Given the description of an element on the screen output the (x, y) to click on. 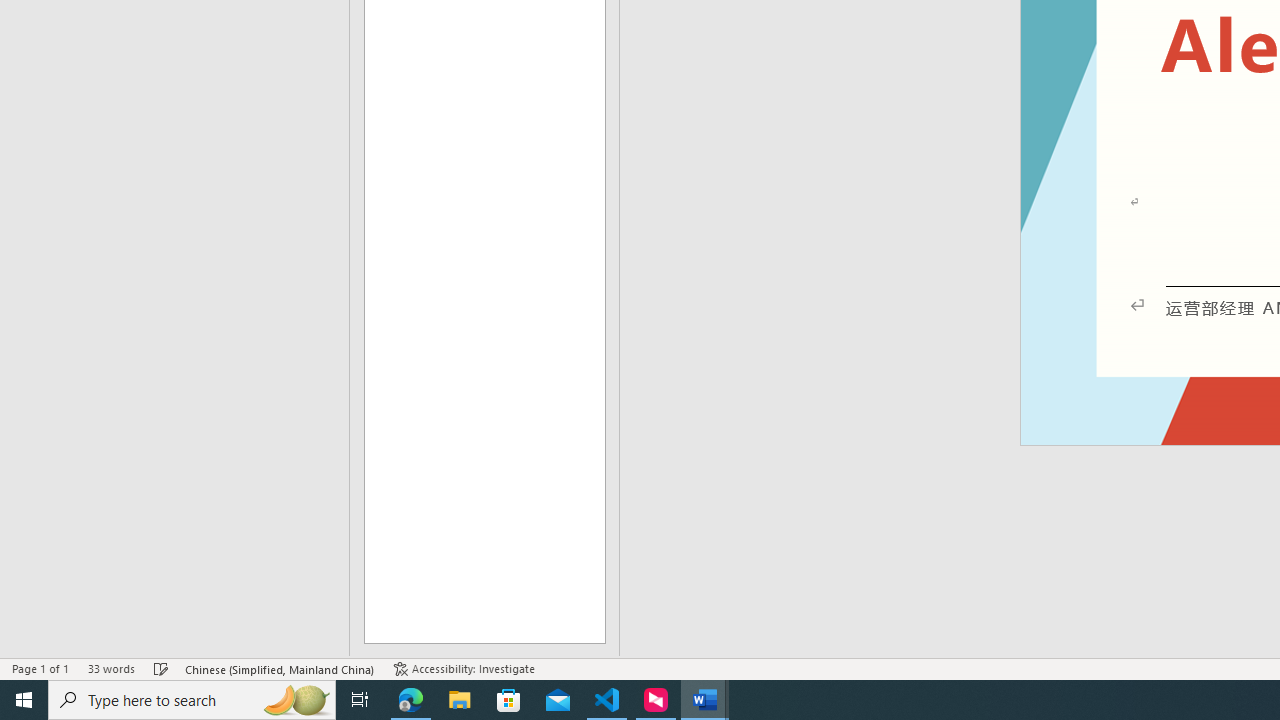
Page Number Page 1 of 1 (39, 668)
